Given the description of an element on the screen output the (x, y) to click on. 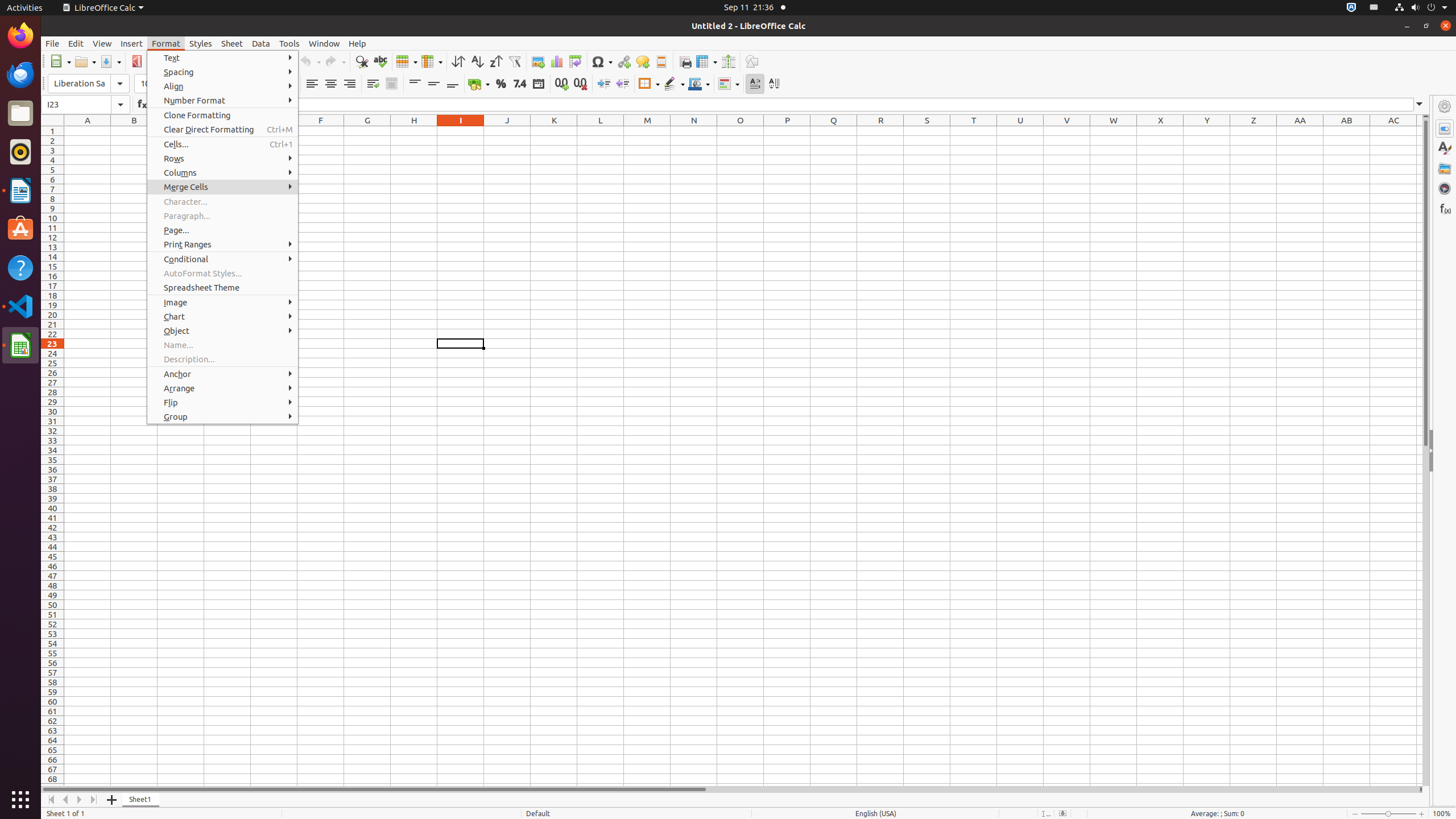
Border Color Element type: push-button (698, 83)
AD1 Element type: table-cell (1419, 130)
Expand Formula Bar Element type: push-button (1419, 104)
Cells... Element type: menu-item (222, 144)
N1 Element type: table-cell (693, 130)
